Given the description of an element on the screen output the (x, y) to click on. 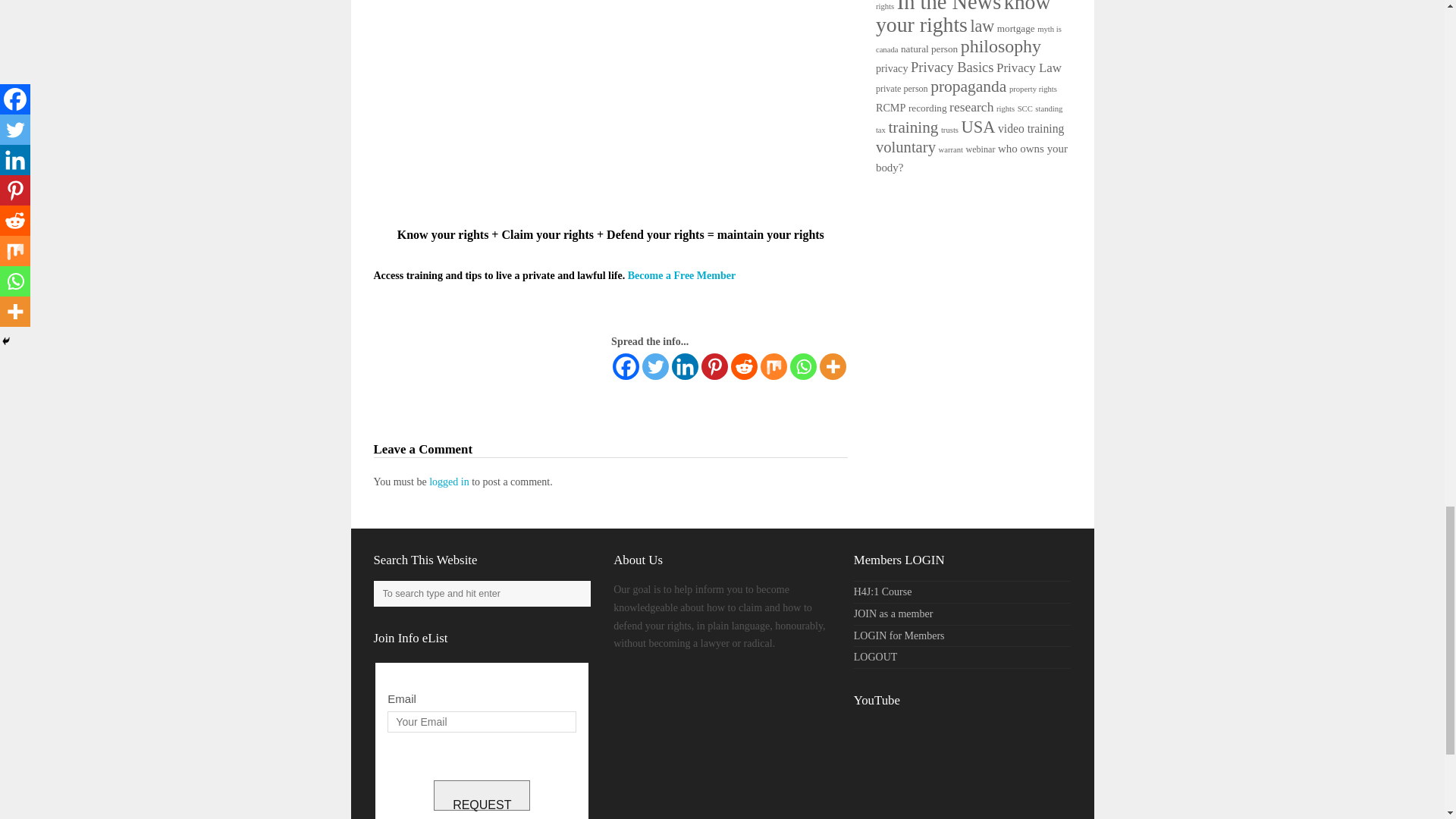
Whatsapp (803, 366)
Linkedin (684, 366)
Facebook (625, 366)
become a member (681, 275)
Mix (773, 366)
Pinterest (714, 366)
Twitter (655, 366)
Reddit (743, 366)
More (832, 366)
